Given the description of an element on the screen output the (x, y) to click on. 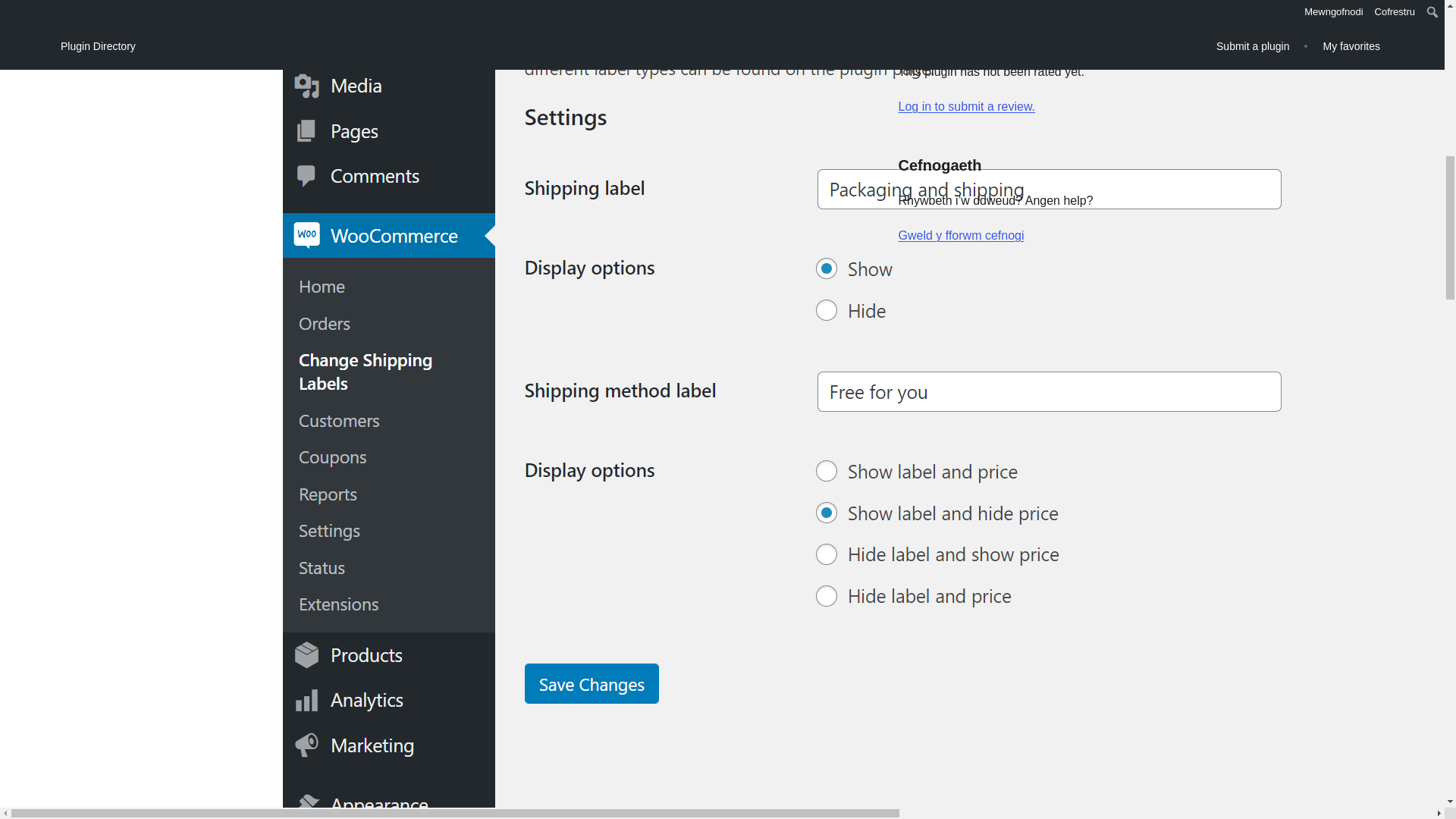
Log in to WordPress.org (966, 106)
